Given the description of an element on the screen output the (x, y) to click on. 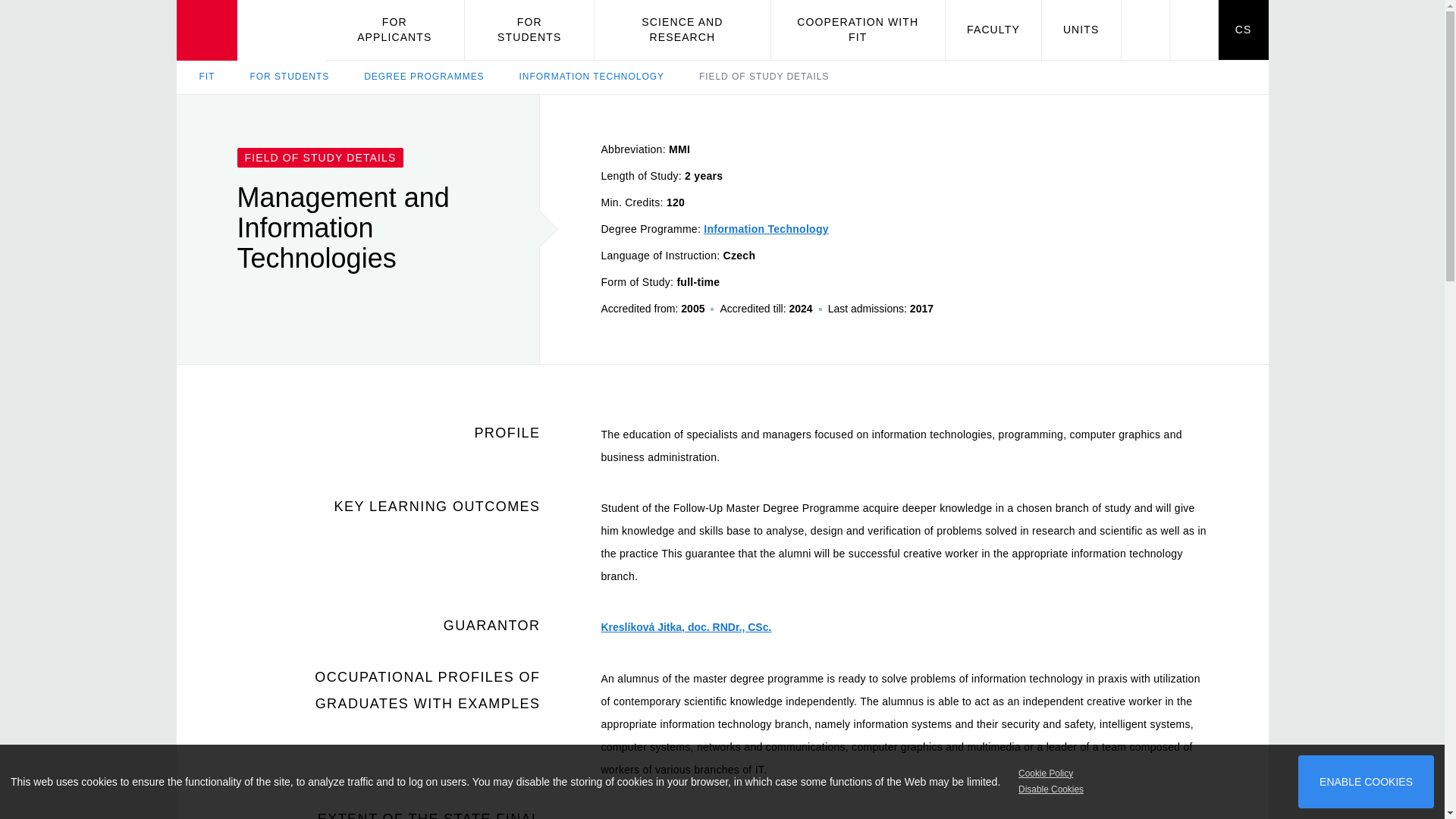
FOR STUDENTS (529, 29)
SCIENCE AND RESEARCH (682, 29)
FOR APPLICANTS (394, 29)
Faculty of Information Technology, BUT (250, 30)
